Given the description of an element on the screen output the (x, y) to click on. 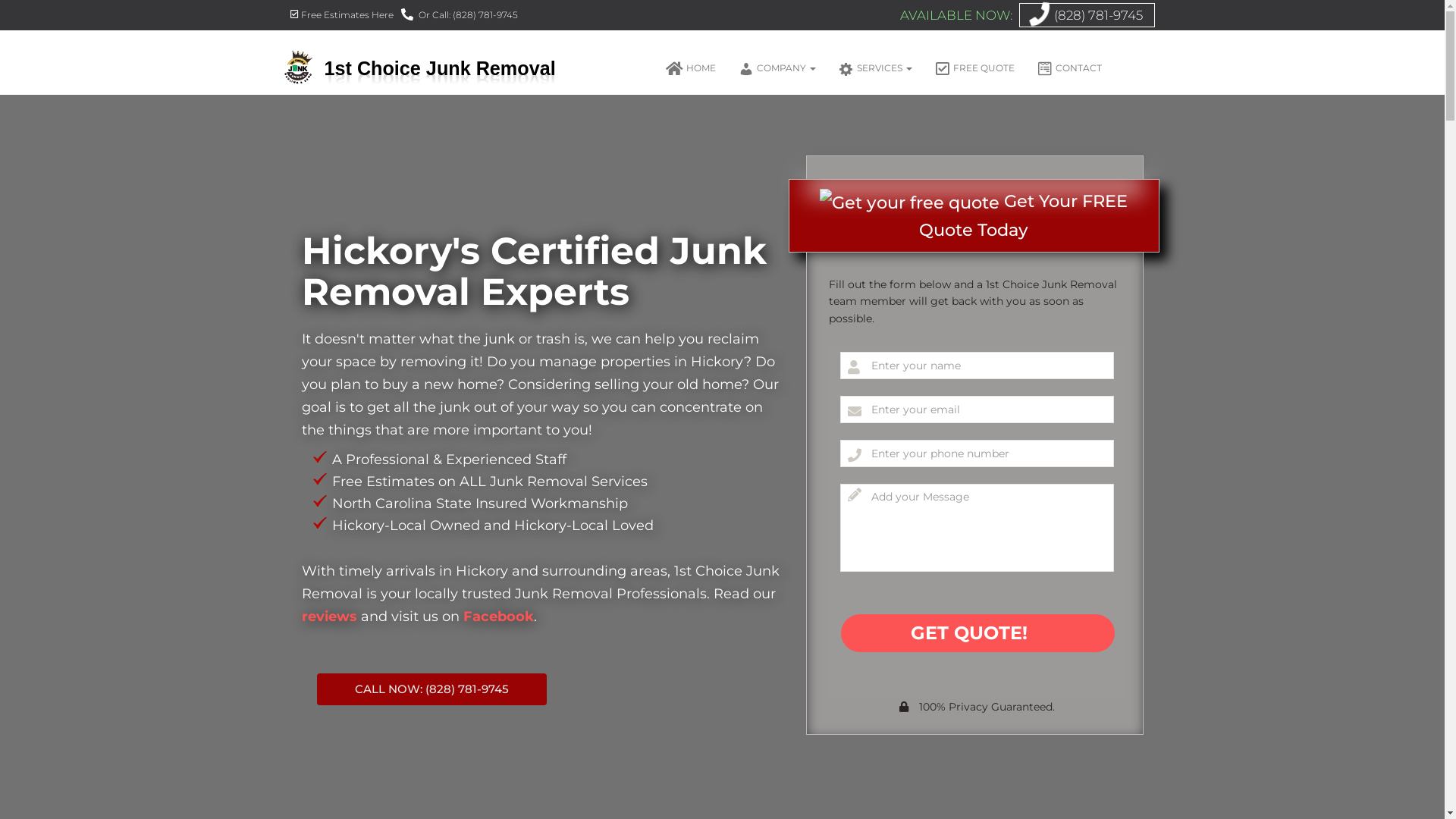
Free Estimates Here Element type: text (340, 15)
CONTACT Element type: text (1068, 68)
FREE QUOTE Element type: text (974, 68)
COMPANY Element type: text (776, 68)
Search Element type: text (17, 18)
Facebook Element type: text (497, 616)
CALL NOW: (828) 781-9745 Element type: text (431, 688)
HOME Element type: text (689, 68)
1st Choice Junk Removal Element type: text (423, 68)
SERVICES Element type: text (874, 68)
(828) 781-9745 Element type: text (1098, 14)
reviews Element type: text (329, 616)
GET QUOTE! Element type: text (976, 633)
Or Call: (828) 781-9745 Element type: text (458, 15)
